Given the description of an element on the screen output the (x, y) to click on. 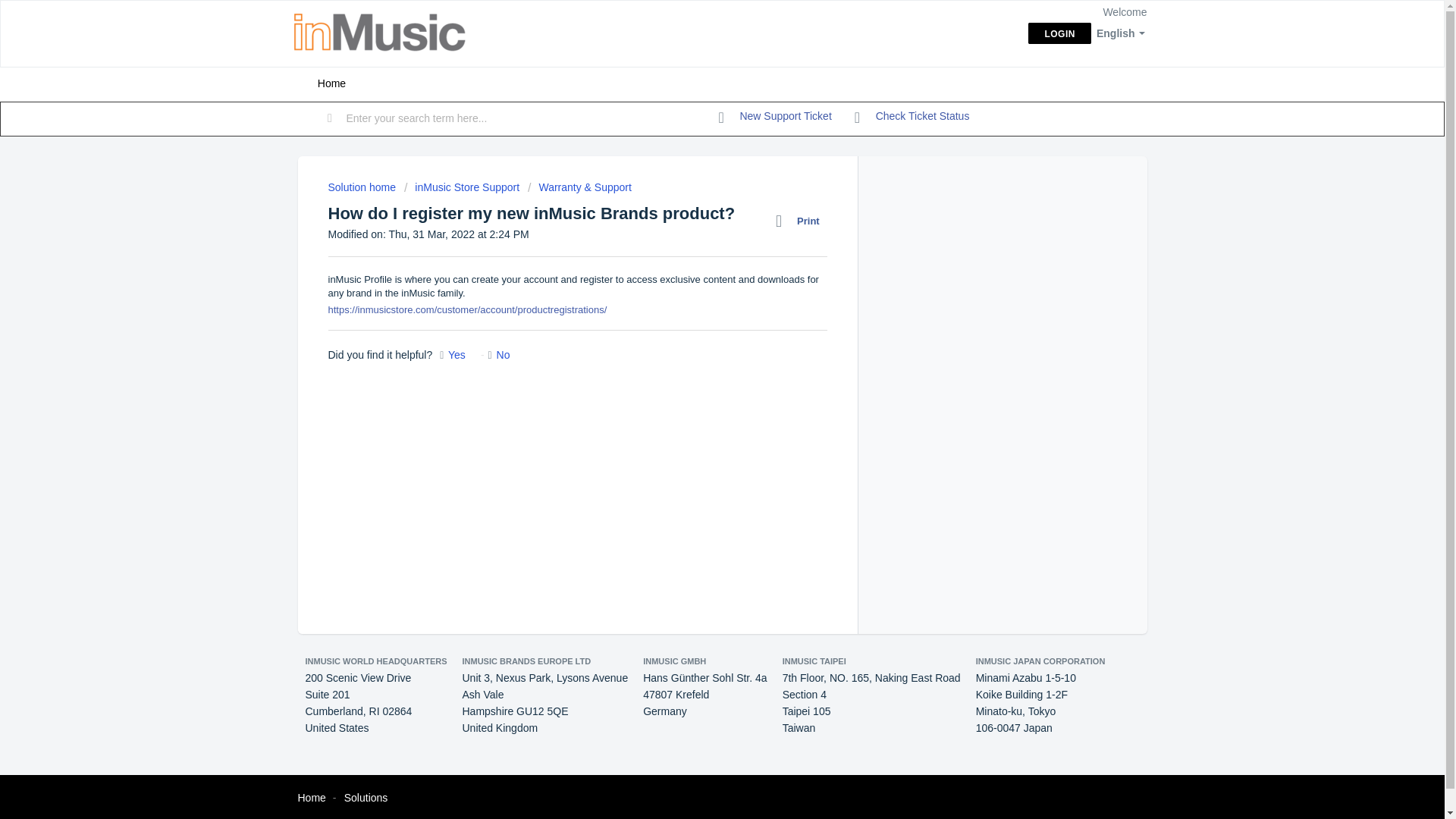
New Support Ticket (775, 116)
Solution home (362, 186)
Solutions (365, 797)
Print (801, 220)
New support ticket (775, 116)
Check ticket status (911, 116)
Home (331, 83)
Home (310, 797)
inMusic Store Support (461, 186)
Print this Article (801, 220)
Check Ticket Status (911, 116)
LOGIN (1058, 33)
